Given the description of an element on the screen output the (x, y) to click on. 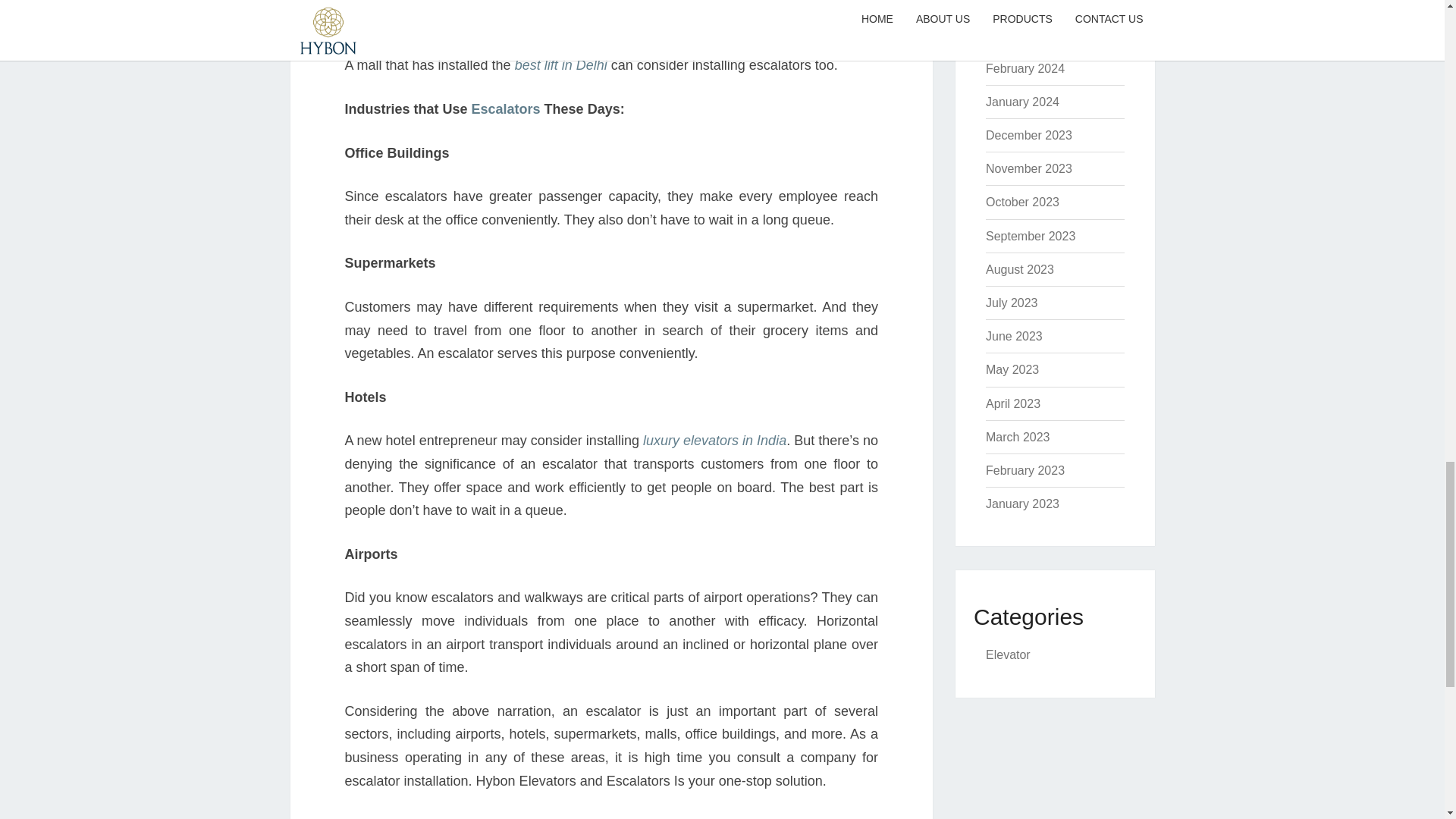
March 2024 (1017, 34)
August 2023 (1019, 269)
April 2024 (1013, 3)
May 2023 (1012, 369)
October 2023 (1022, 201)
best lift in Delhi (561, 64)
September 2023 (1030, 236)
Escalators (507, 109)
July 2023 (1011, 302)
luxury elevators in India (714, 440)
